Given the description of an element on the screen output the (x, y) to click on. 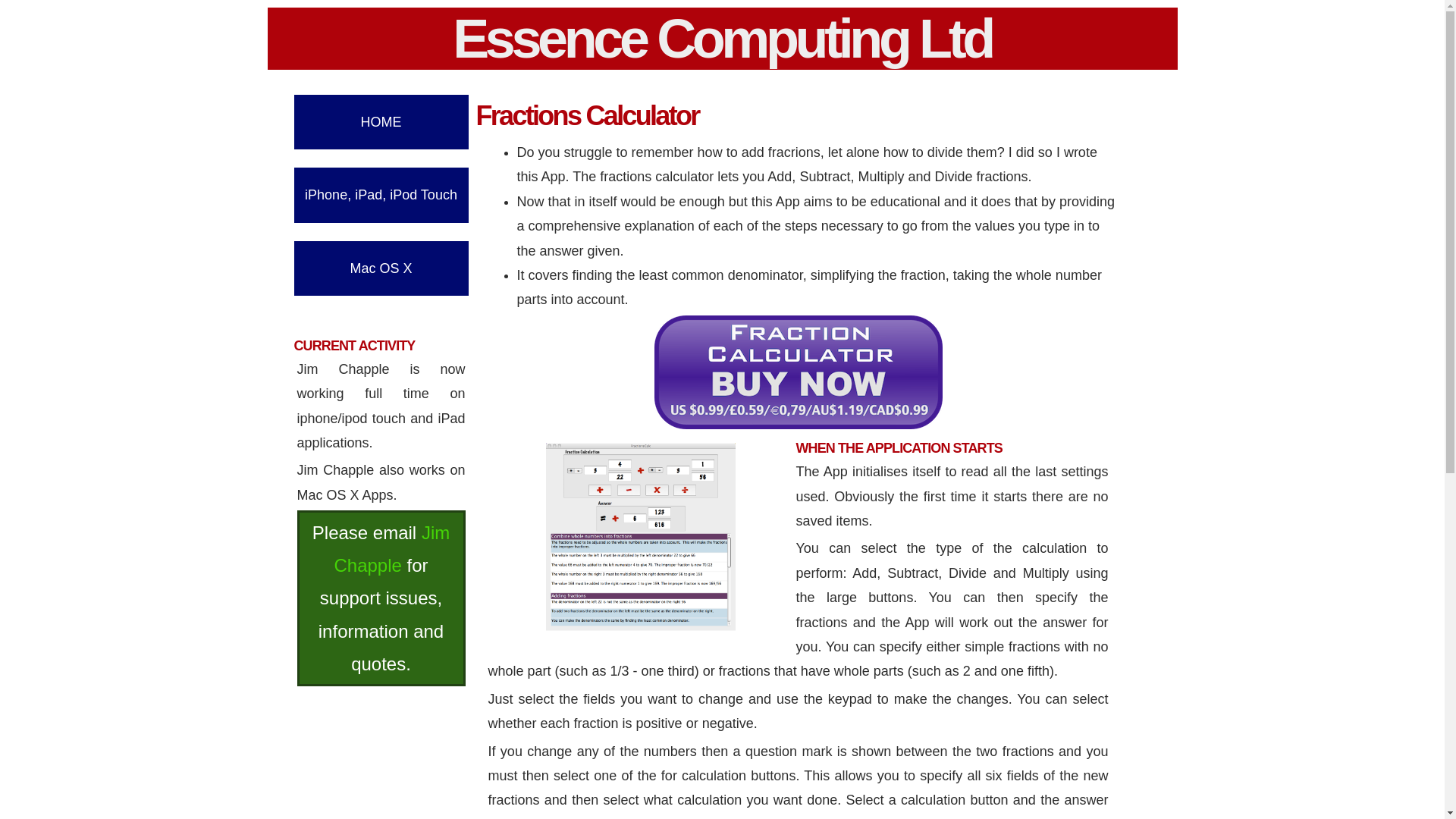
HOME (381, 121)
Mac OS X (380, 268)
Jim Chapple (391, 548)
iPhone, iPad, iPod Touch (380, 194)
